Given the description of an element on the screen output the (x, y) to click on. 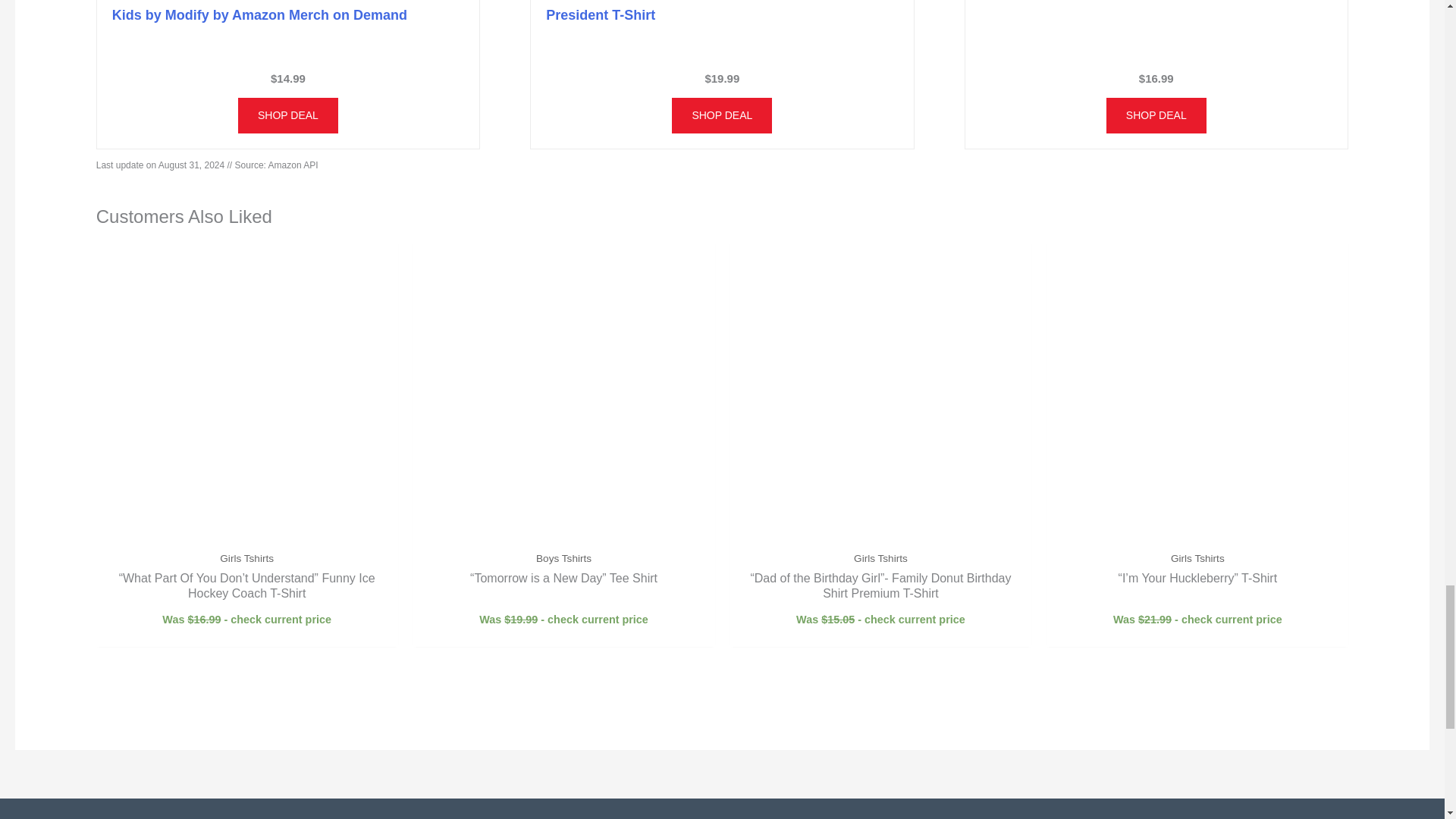
SHOP DEAL (287, 115)
